Given the description of an element on the screen output the (x, y) to click on. 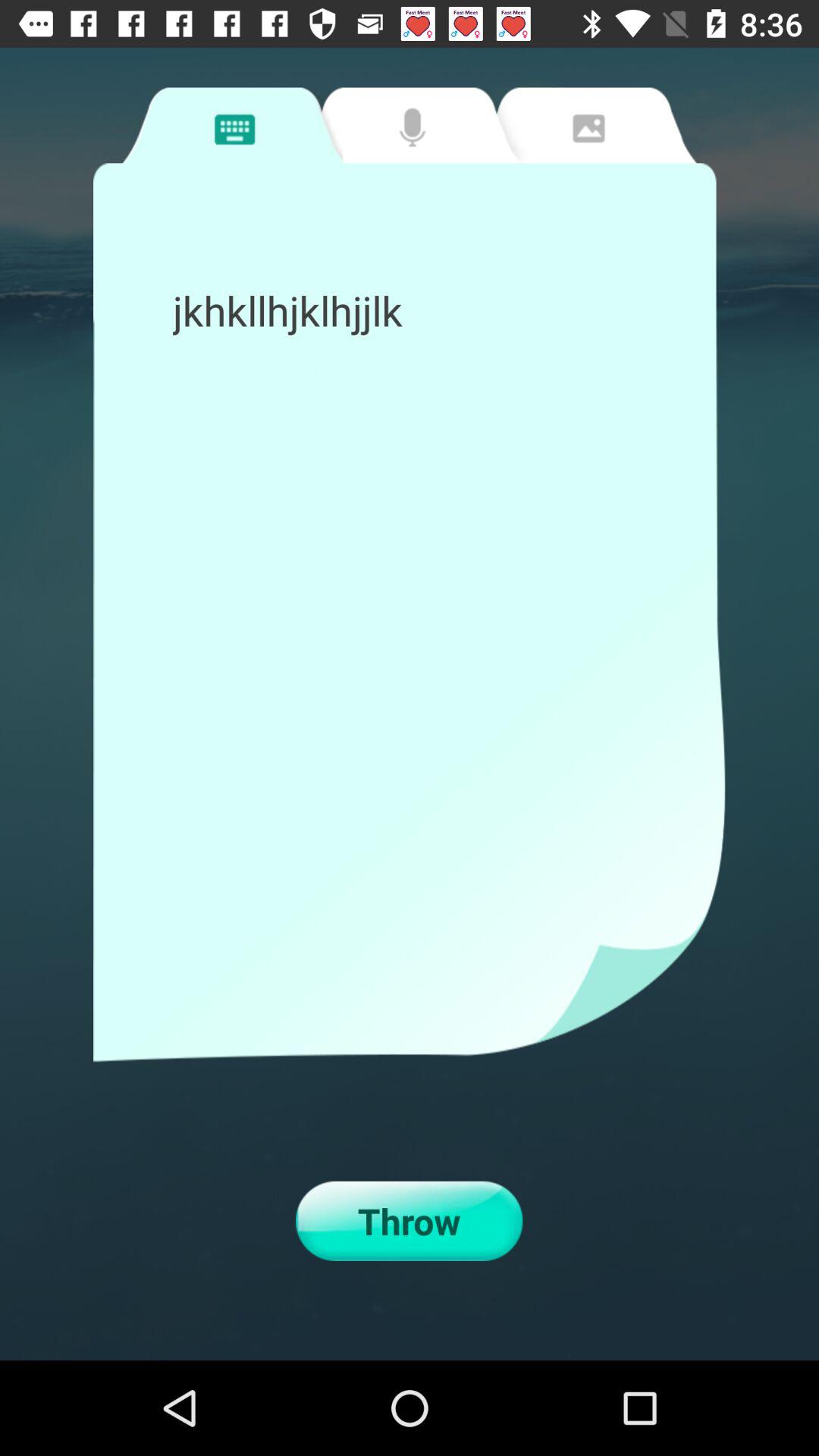
microphone tab (407, 125)
